Given the description of an element on the screen output the (x, y) to click on. 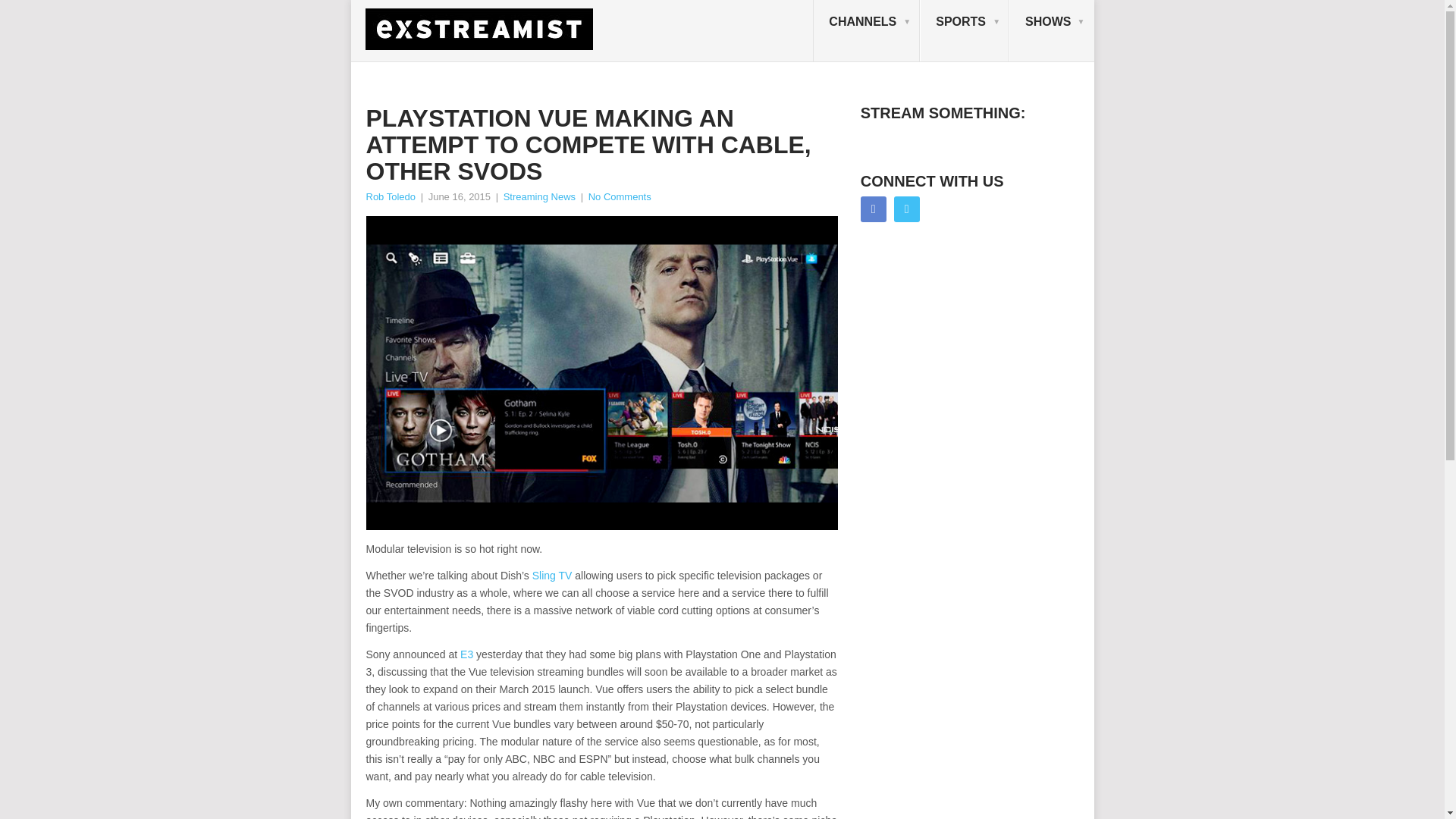
Watch Sports Online (964, 31)
Posts by Rob Toledo (389, 196)
Watch TV Shows Online (1051, 31)
Watch TV Channels Online (866, 31)
Facebook (873, 208)
Twitter (906, 208)
SPORTS (964, 31)
CHANNELS (866, 31)
